Given the description of an element on the screen output the (x, y) to click on. 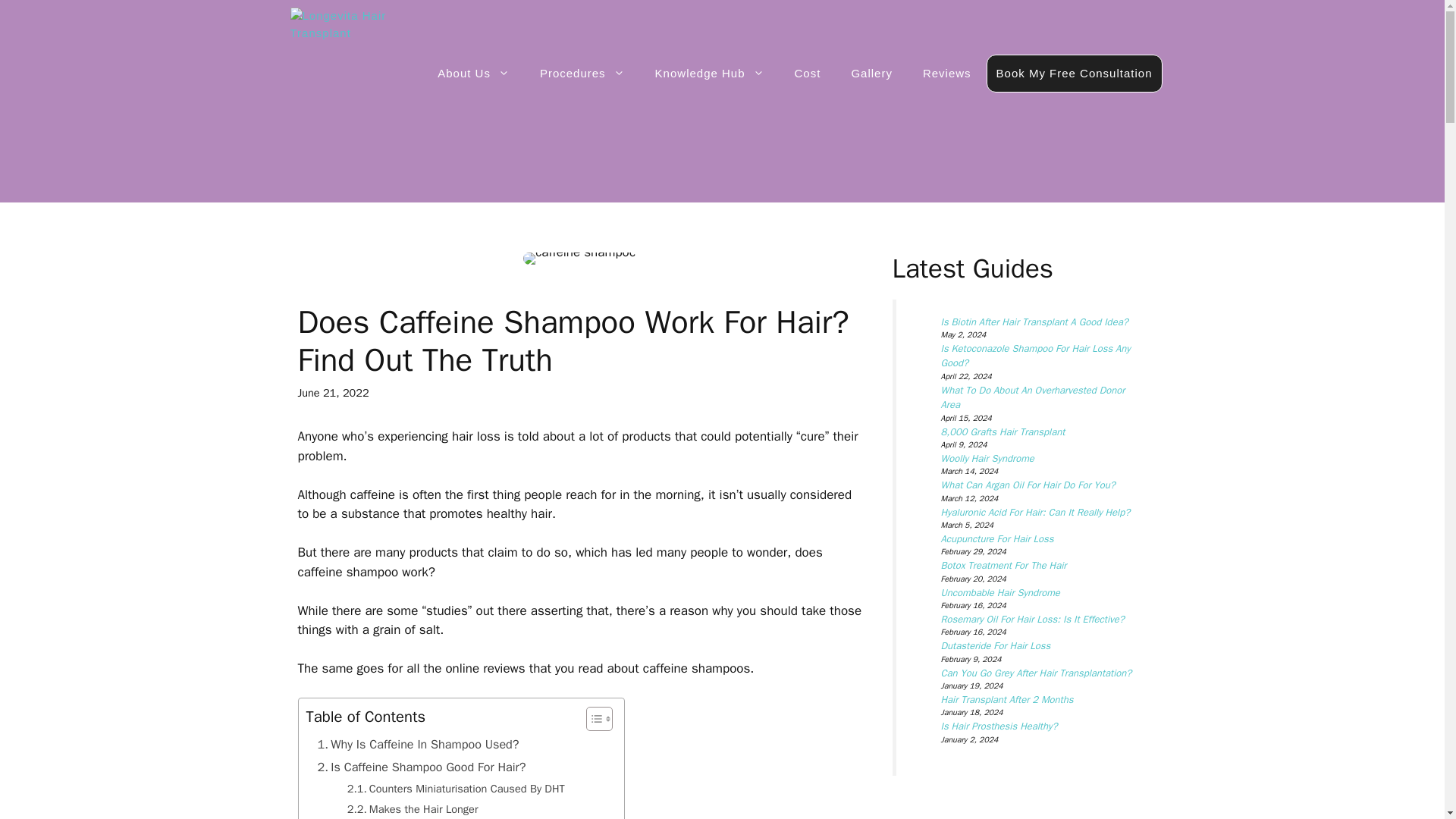
Knowledge Hub (709, 73)
Is Caffeine Shampoo Good For Hair? (421, 767)
Longevita Hair Transplant (366, 25)
Procedures (582, 73)
About Us (473, 73)
